Given the description of an element on the screen output the (x, y) to click on. 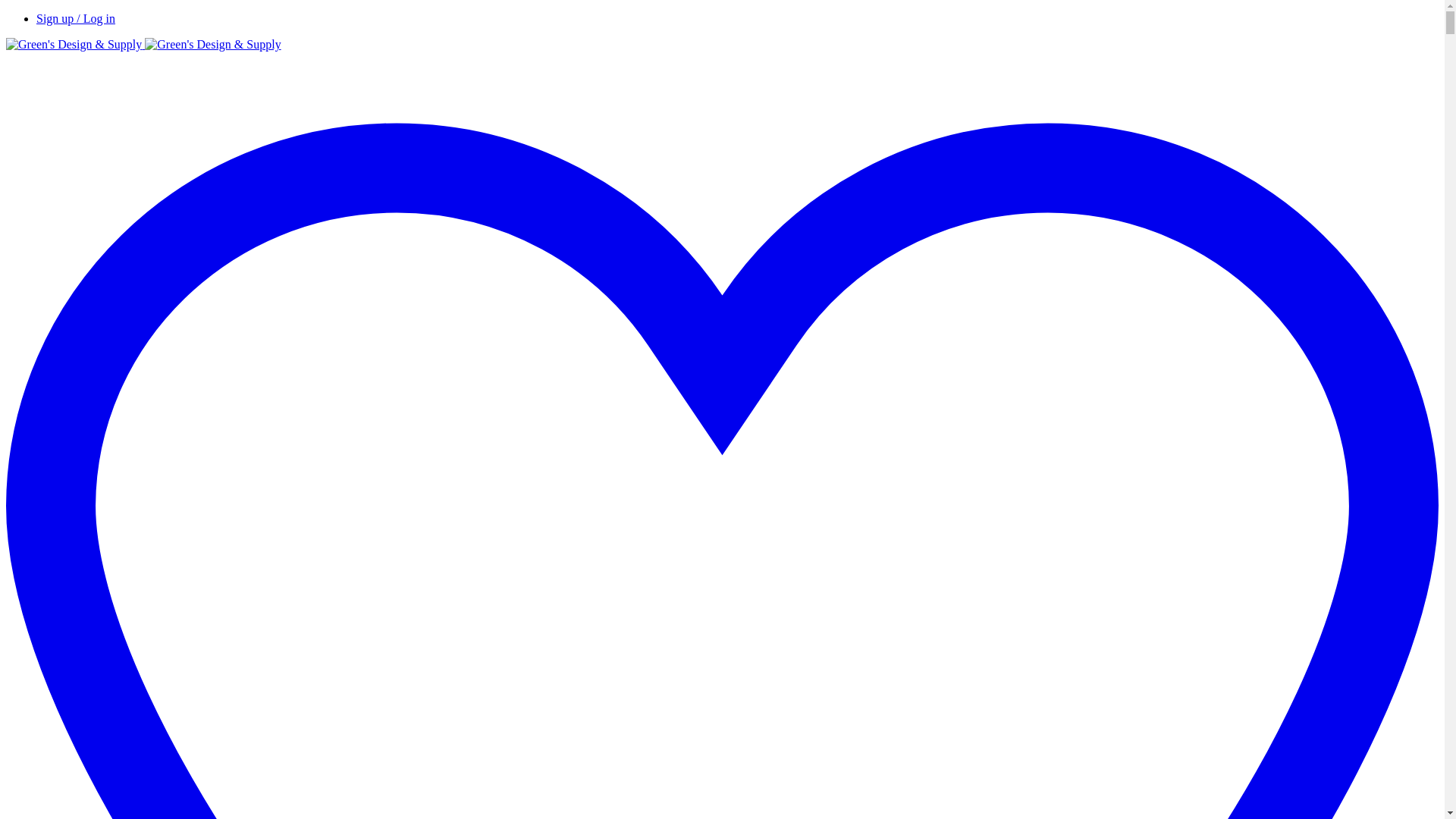
Green's Design & Supply Element type: hover (143, 43)
Sign up / Log in Element type: text (75, 18)
